Given the description of an element on the screen output the (x, y) to click on. 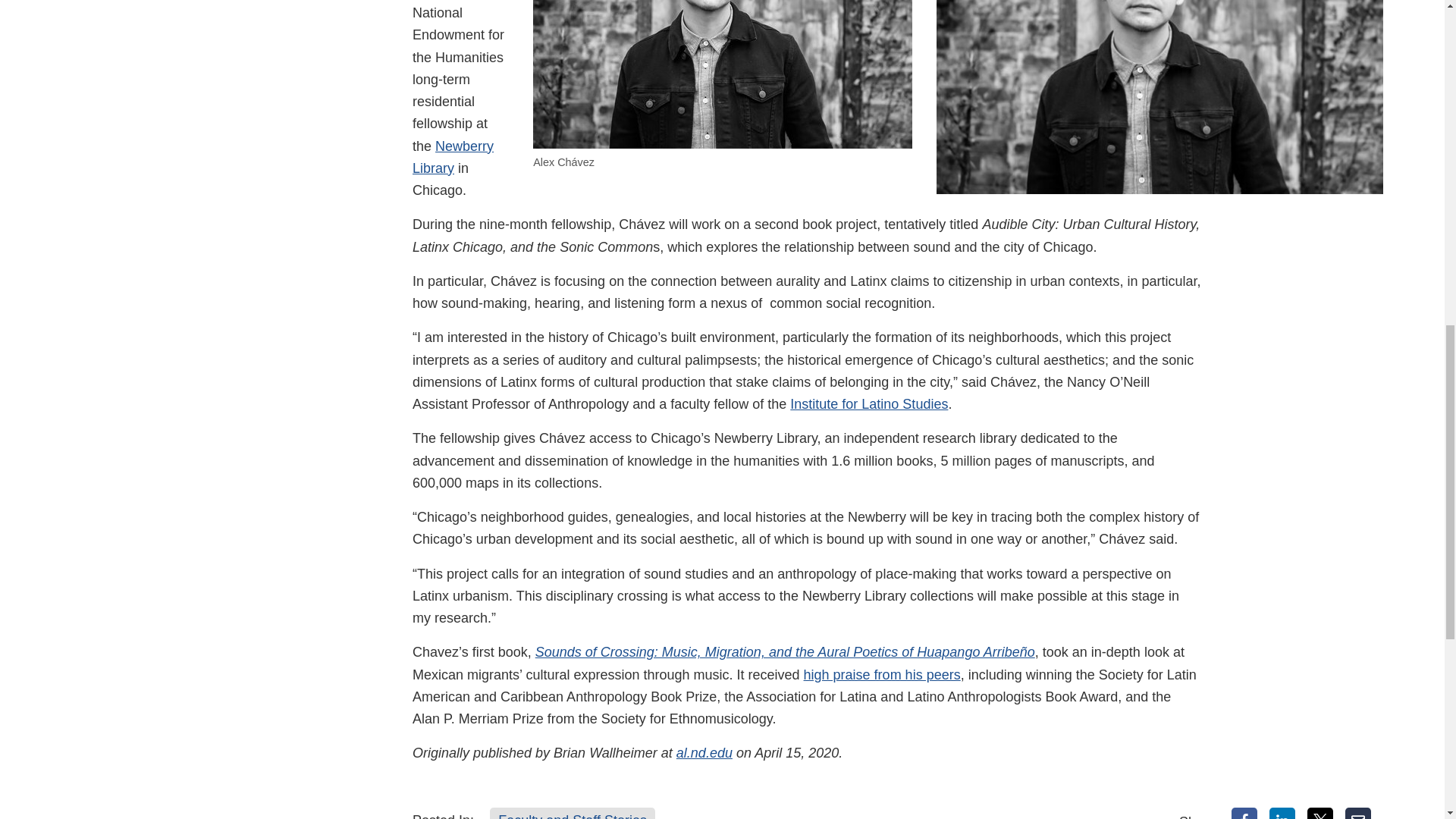
Newberry Library (452, 157)
LinkedIn (1282, 813)
Facebook (1244, 813)
Institute for Latino Studies (868, 403)
Email (1358, 813)
